Given the description of an element on the screen output the (x, y) to click on. 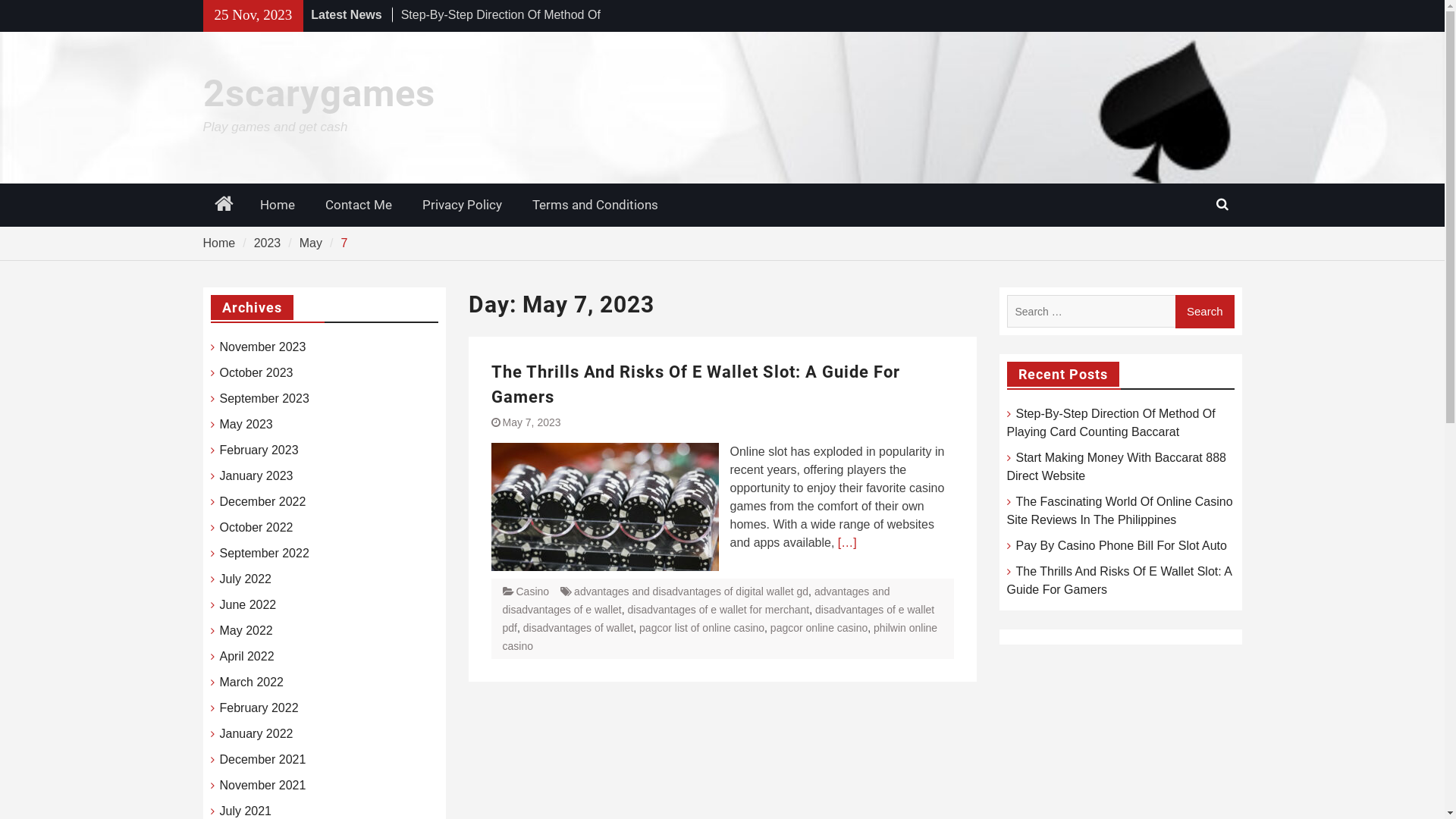
disadvantages of e wallet pdf Element type: text (718, 618)
April 2022 Element type: text (246, 656)
December 2022 Element type: text (262, 501)
February 2023 Element type: text (258, 450)
March 2022 Element type: text (251, 682)
Casino Element type: text (532, 591)
Privacy Policy Element type: text (461, 205)
May Element type: text (310, 242)
January 2022 Element type: text (256, 733)
October 2023 Element type: text (256, 373)
June 2022 Element type: text (247, 605)
December 2021 Element type: text (262, 759)
Home Element type: text (276, 205)
philwin online casino Element type: text (719, 636)
The Thrills And Risks Of E Wallet Slot: A Guide For Gamers Element type: text (695, 384)
The Thrills And Risks Of E Wallet Slot: A Guide For Gamers Element type: text (1119, 580)
Terms and Conditions Element type: text (595, 205)
disadvantages of e wallet for merchant Element type: text (718, 609)
2023 Element type: text (267, 242)
Home Element type: text (219, 242)
September 2022 Element type: text (264, 553)
February 2022 Element type: text (258, 708)
Pay By Casino Phone Bill For Slot Auto Element type: text (1121, 545)
Home Element type: text (223, 204)
advantages and disadvantages of digital wallet gd Element type: text (691, 591)
November 2021 Element type: text (262, 785)
disadvantages of wallet Element type: text (578, 627)
July 2022 Element type: text (245, 579)
pagcor online casino Element type: text (818, 627)
May 2022 Element type: text (246, 630)
September 2023 Element type: text (264, 398)
January 2023 Element type: text (256, 476)
Contact Me Element type: text (357, 205)
October 2022 Element type: text (256, 527)
Start Making Money With Baccarat 888 Direct Website Element type: text (1116, 466)
pagcor list of online casino Element type: text (701, 627)
advantages and disadvantages of e wallet Element type: text (695, 600)
Search Element type: text (1204, 311)
May 7, 2023 Element type: text (531, 422)
November 2023 Element type: text (262, 347)
2scarygames Element type: text (319, 92)
May 2023 Element type: text (246, 424)
